Given the description of an element on the screen output the (x, y) to click on. 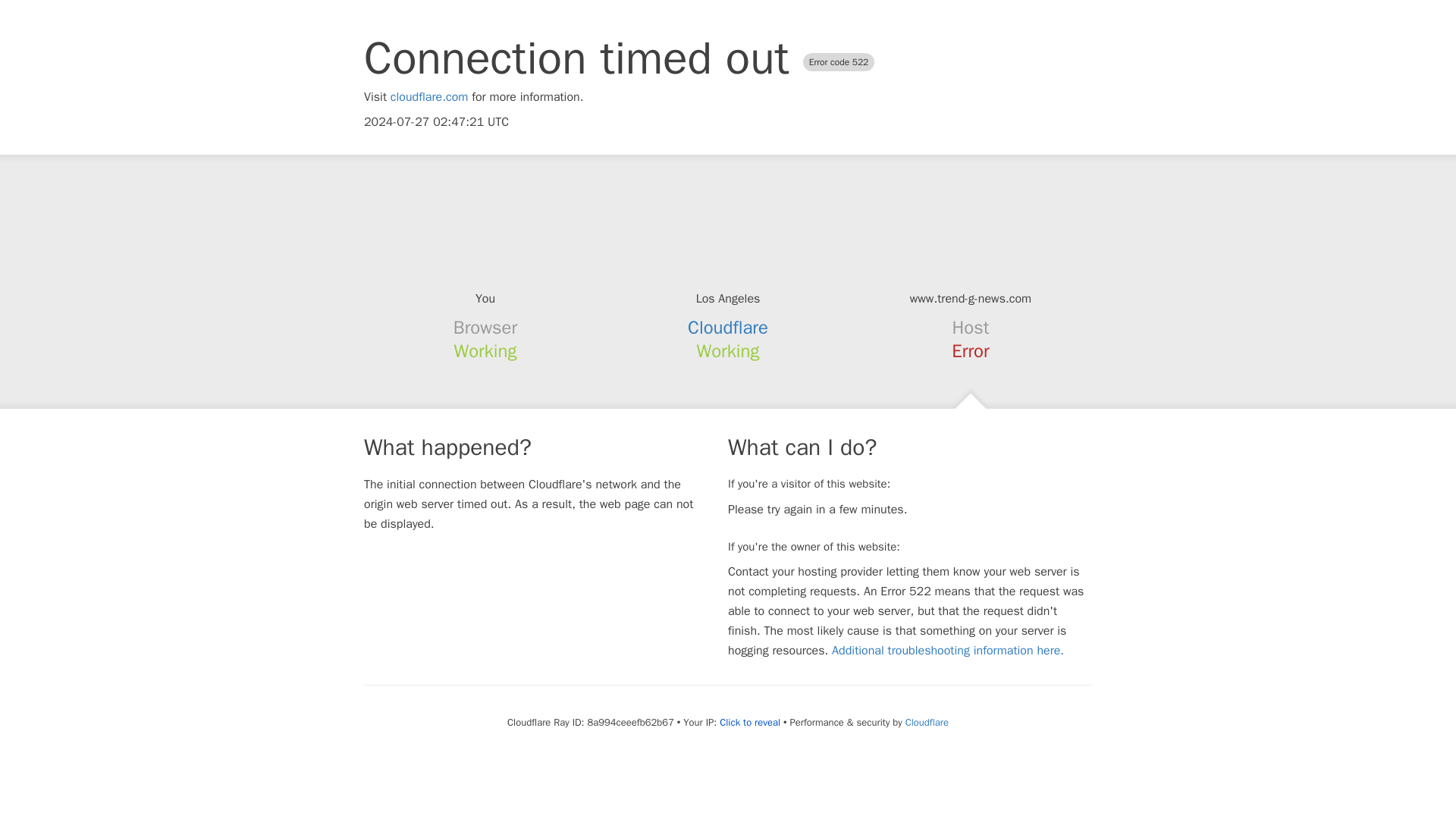
Cloudflare (727, 327)
Click to reveal (749, 722)
Additional troubleshooting information here. (947, 650)
Cloudflare (927, 721)
cloudflare.com (429, 96)
